Given the description of an element on the screen output the (x, y) to click on. 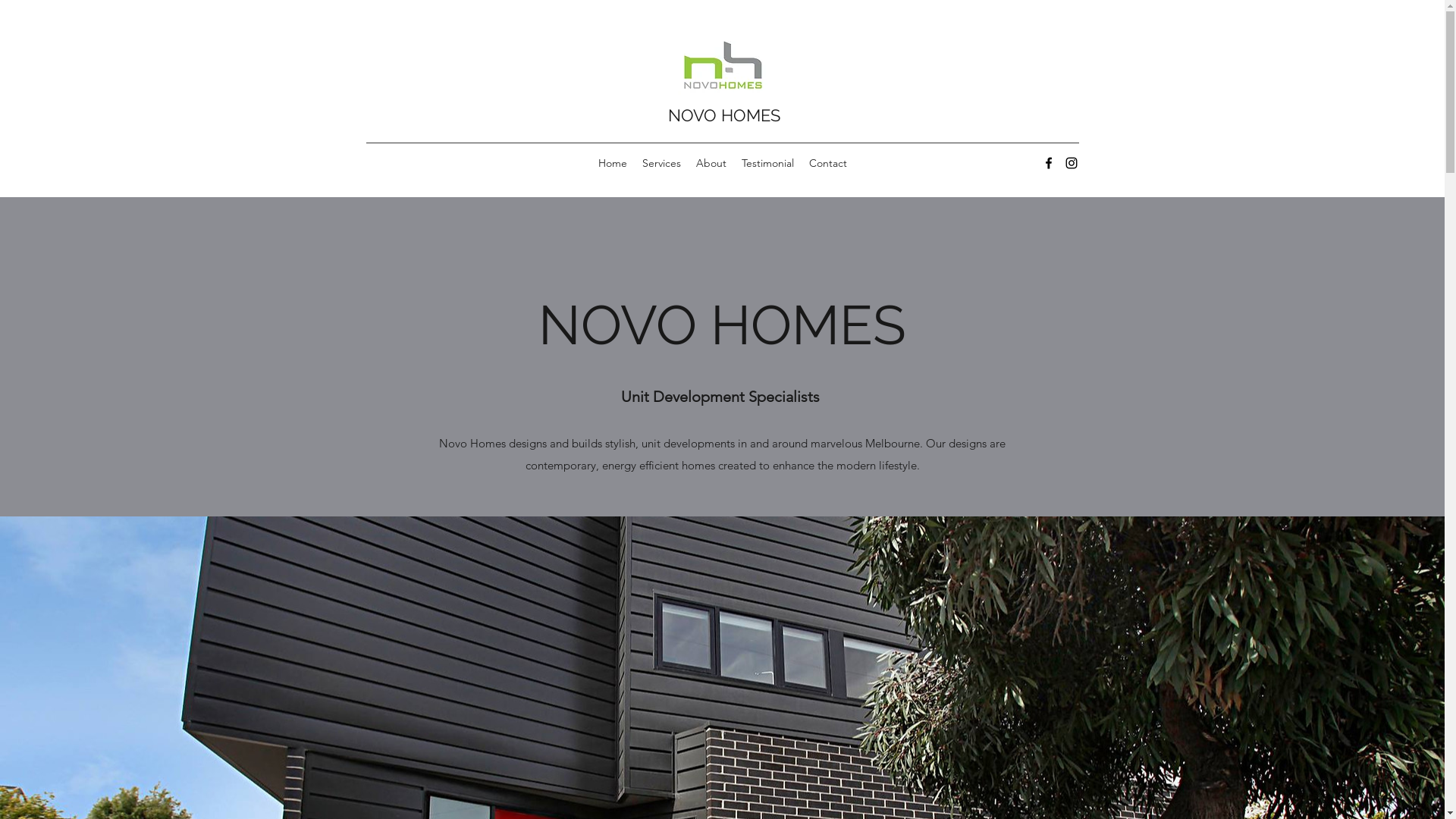
Contact Element type: text (826, 162)
Services Element type: text (660, 162)
Testimonial Element type: text (767, 162)
Home Element type: text (611, 162)
NOVO HOMES Element type: text (723, 115)
About Element type: text (711, 162)
